Given the description of an element on the screen output the (x, y) to click on. 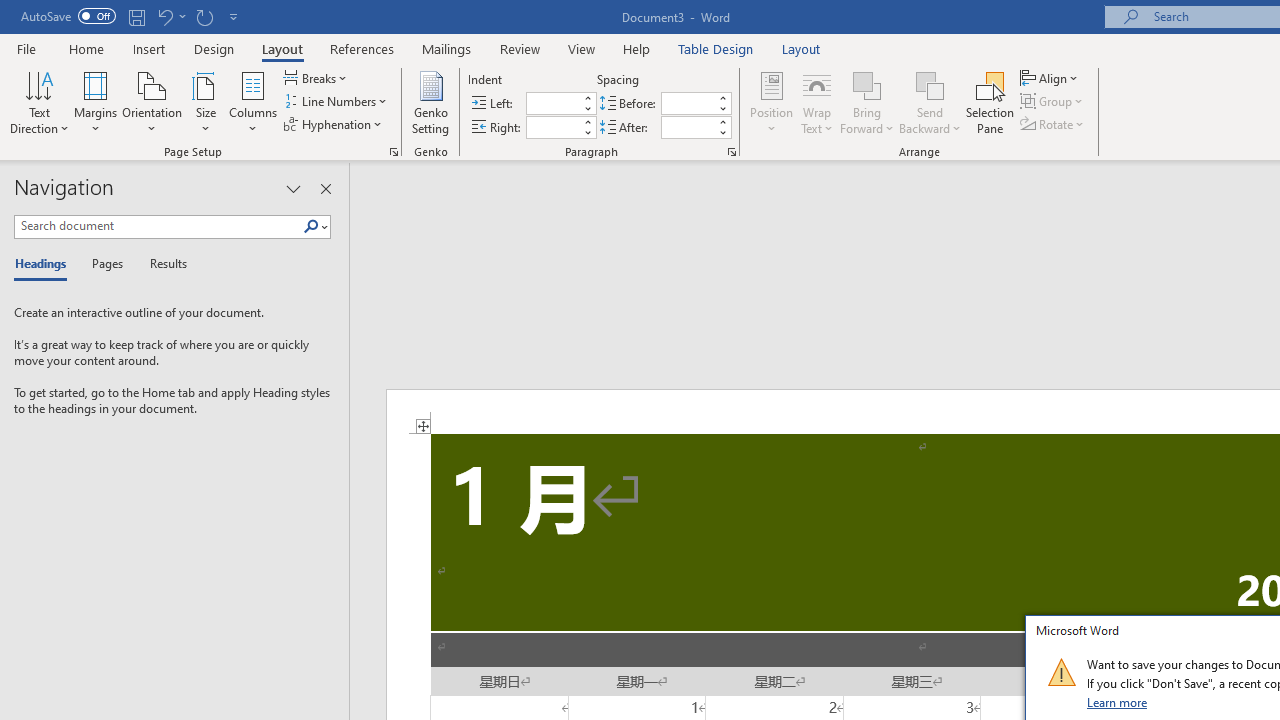
Genko Setting... (430, 102)
Repeat Insert Row Below (204, 15)
Group (1053, 101)
Align (1051, 78)
Indent Left (552, 103)
Bring Forward (867, 102)
Selection Pane... (990, 102)
Page Setup... (393, 151)
Wrap Text (817, 102)
Size (205, 102)
Text Direction (39, 102)
